Given the description of an element on the screen output the (x, y) to click on. 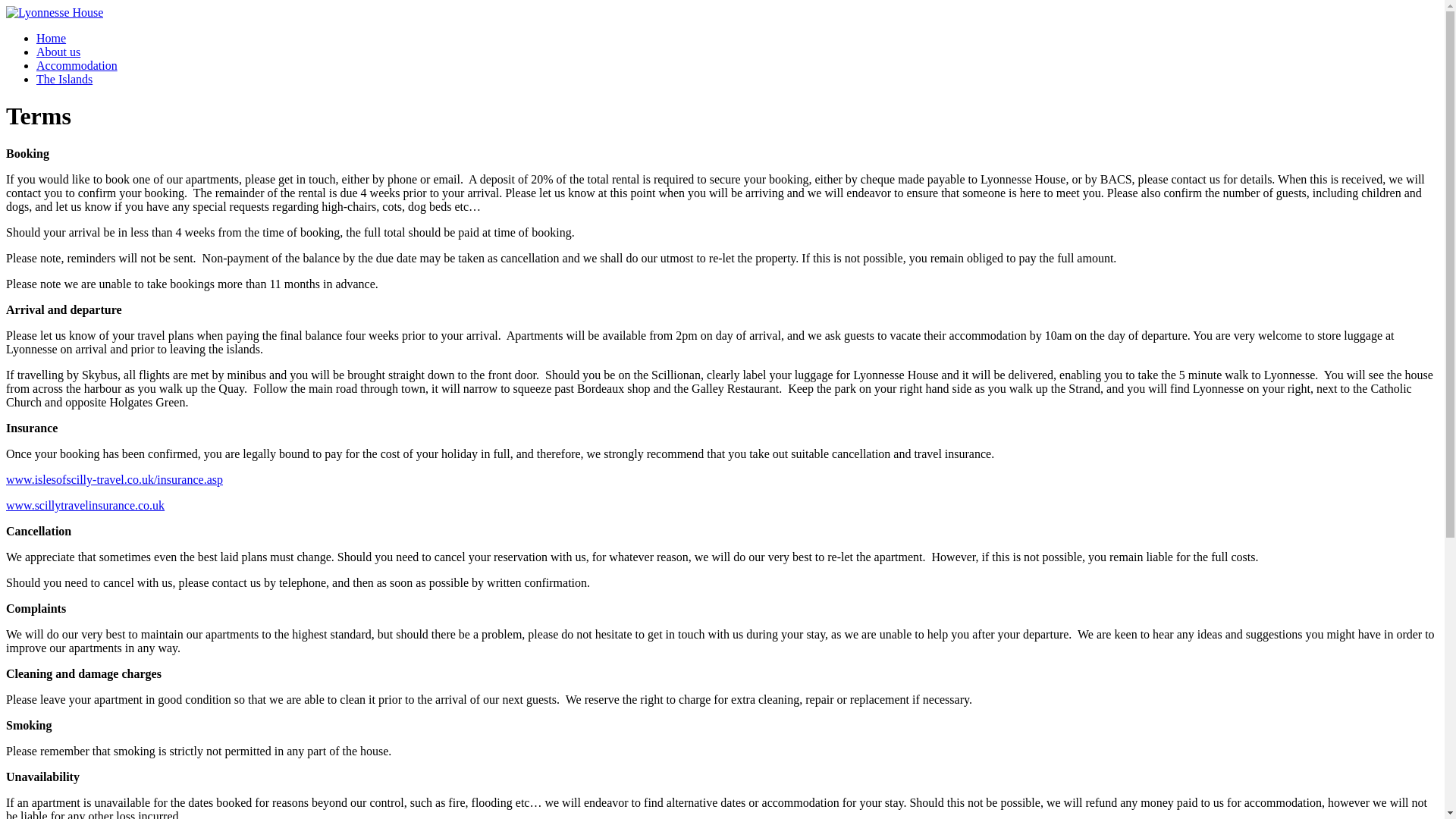
www.scillytravelinsurance.co.uk (84, 504)
The Islands (64, 78)
Home (50, 38)
Accommodation (76, 65)
About us (58, 51)
